Given the description of an element on the screen output the (x, y) to click on. 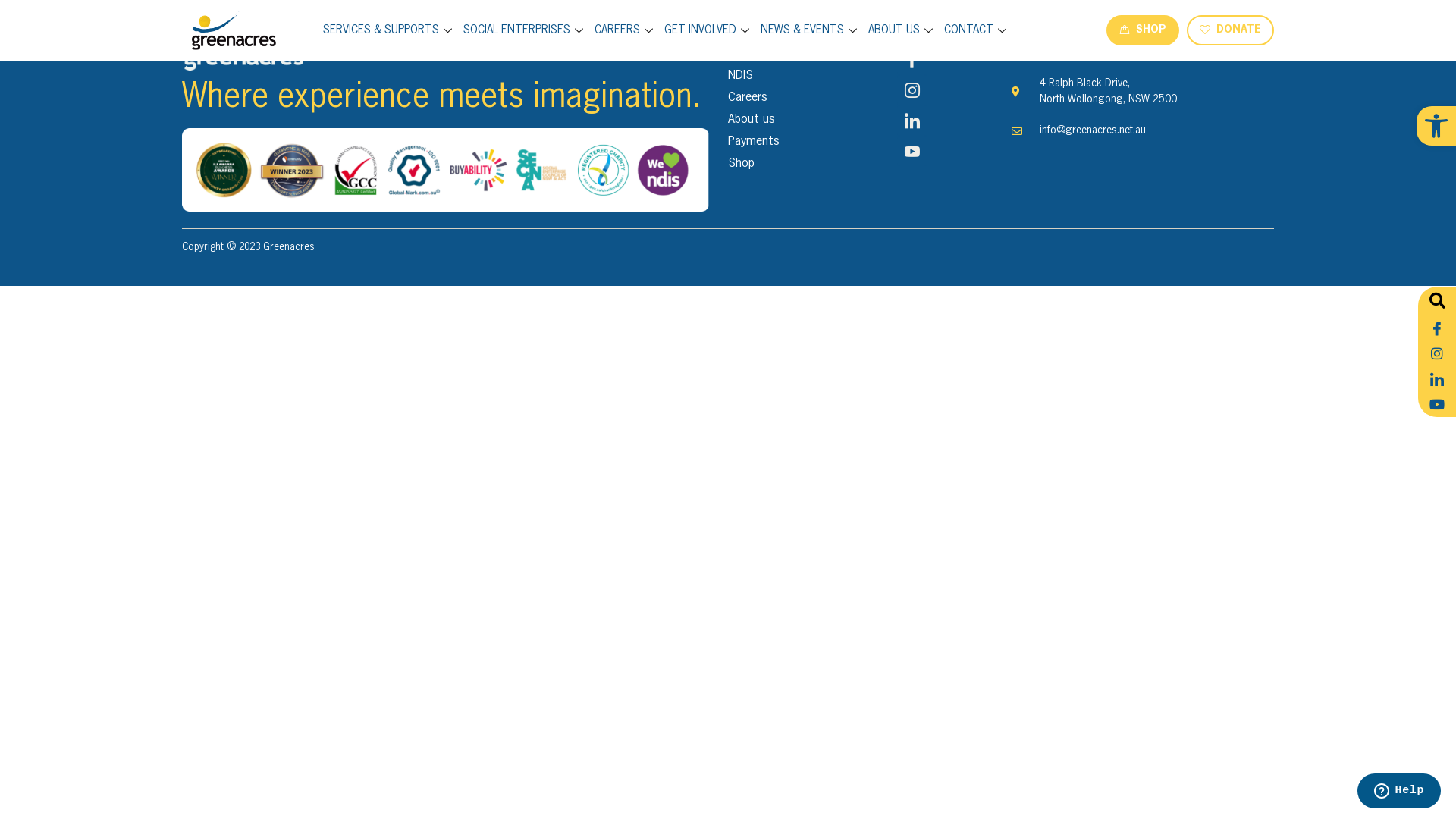
NEWS & EVENTS Element type: text (810, 30)
GET INVOLVED Element type: text (708, 30)
Careers Element type: text (806, 97)
info@greenacres.net.au Element type: text (1142, 130)
SERVICES & SUPPORTS Element type: text (389, 30)
4 Ralph Black Drive,
North Wollongong, NSW 2500 Element type: text (1142, 91)
1800 462 446 Element type: text (1142, 52)
Services & Supports Element type: text (806, 53)
Payments Element type: text (806, 141)
NDIS Element type: text (806, 75)
About us Element type: text (806, 119)
DONATE Element type: text (1230, 30)
CAREERS Element type: text (625, 30)
SOCIAL ENTERPRISES Element type: text (524, 30)
Shop Element type: text (806, 163)
SHOP Element type: text (1142, 30)
Opens a widget where you can find more information Element type: hover (1398, 792)
CONTACT Element type: text (976, 30)
ABOUT US Element type: text (902, 30)
